Given the description of an element on the screen output the (x, y) to click on. 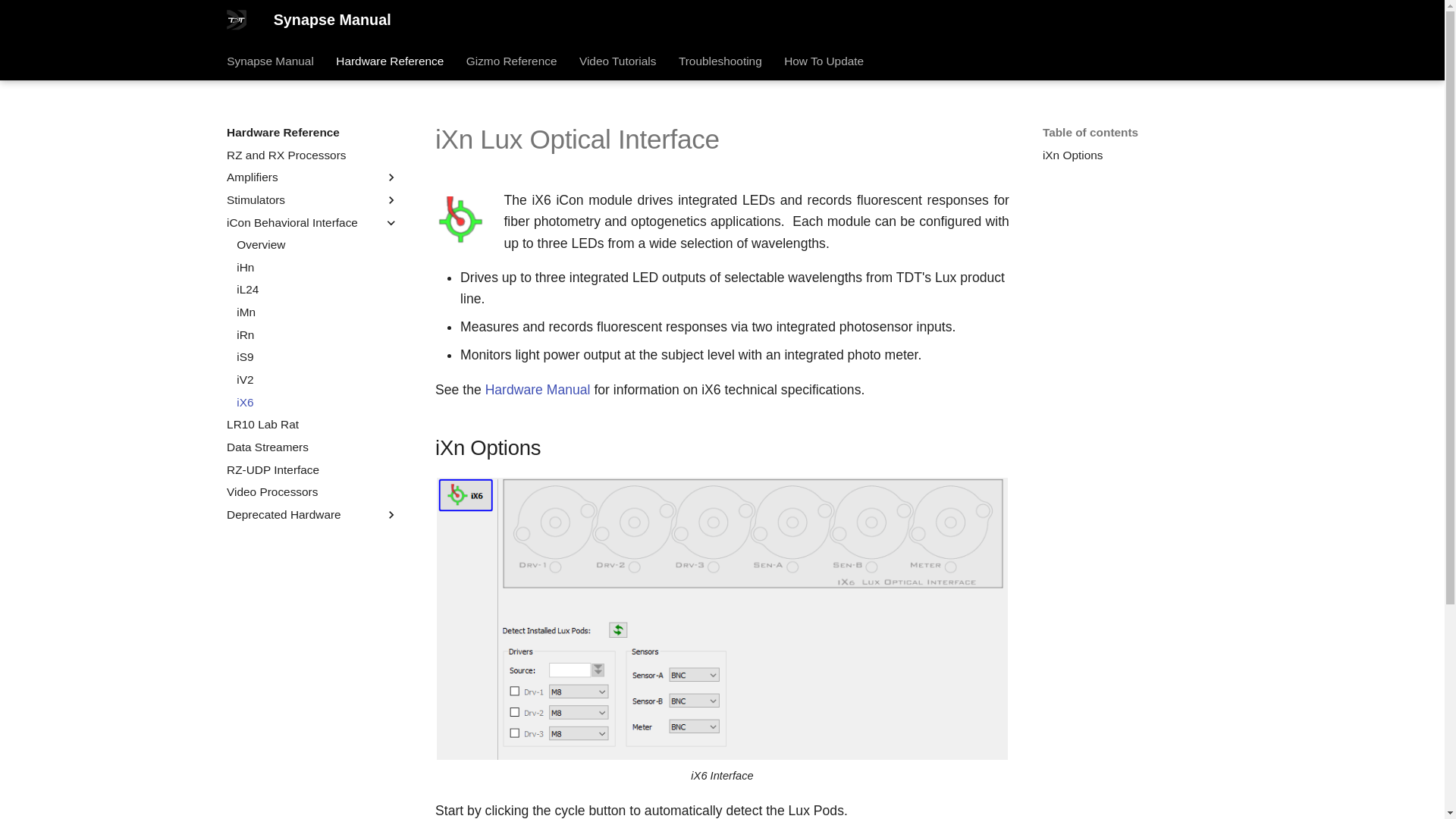
Synapse Manual (236, 19)
RZ and RX Processors (312, 155)
How To Update (823, 60)
Troubleshooting (719, 60)
iL24 (316, 289)
iX6 (316, 402)
Synapse Manual (270, 60)
Overview (316, 244)
iV2 (316, 379)
